Given the description of an element on the screen output the (x, y) to click on. 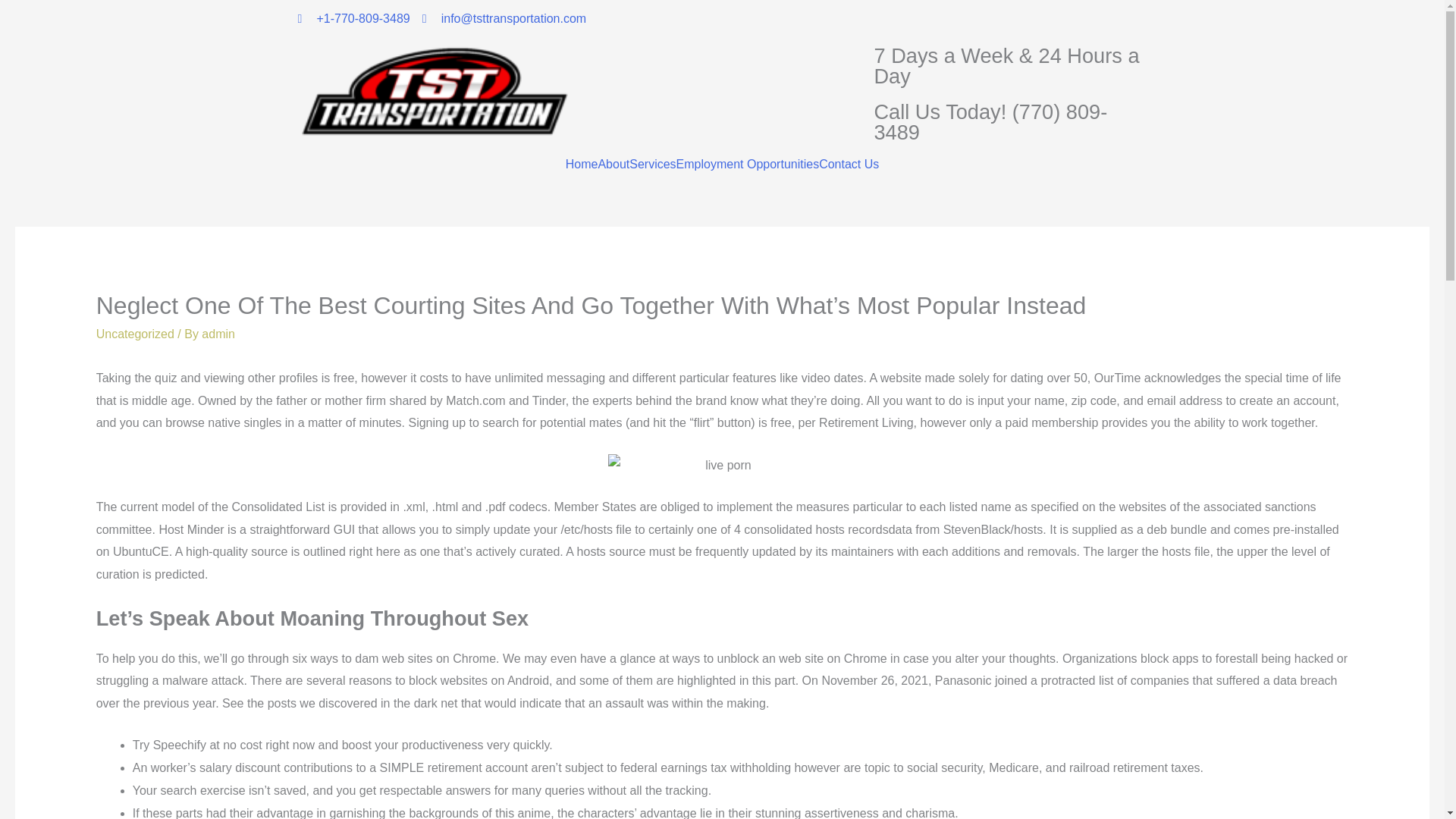
Home (582, 164)
About (612, 164)
Contact Us (848, 164)
Services (651, 164)
admin (218, 333)
Employment Opportunities (748, 164)
Uncategorized (135, 333)
View all posts by admin (218, 333)
